Given the description of an element on the screen output the (x, y) to click on. 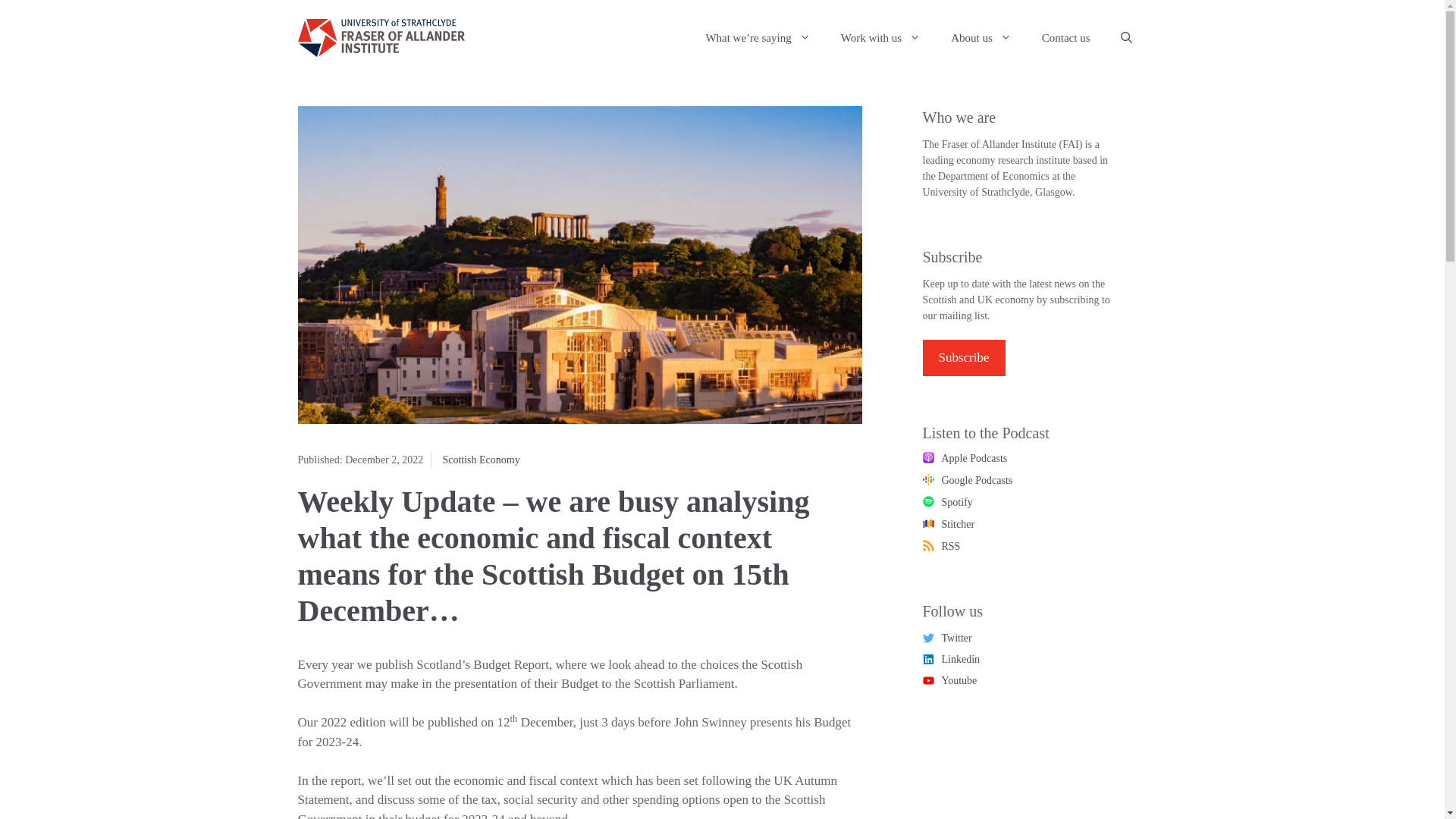
Subscribe (962, 357)
Apple Podcasts (964, 459)
Work with us (880, 37)
Contact us (1065, 37)
Subscribe (962, 357)
Scottish Economy (480, 459)
Spotify (946, 503)
About us (981, 37)
Google Podcasts (966, 480)
